Given the description of an element on the screen output the (x, y) to click on. 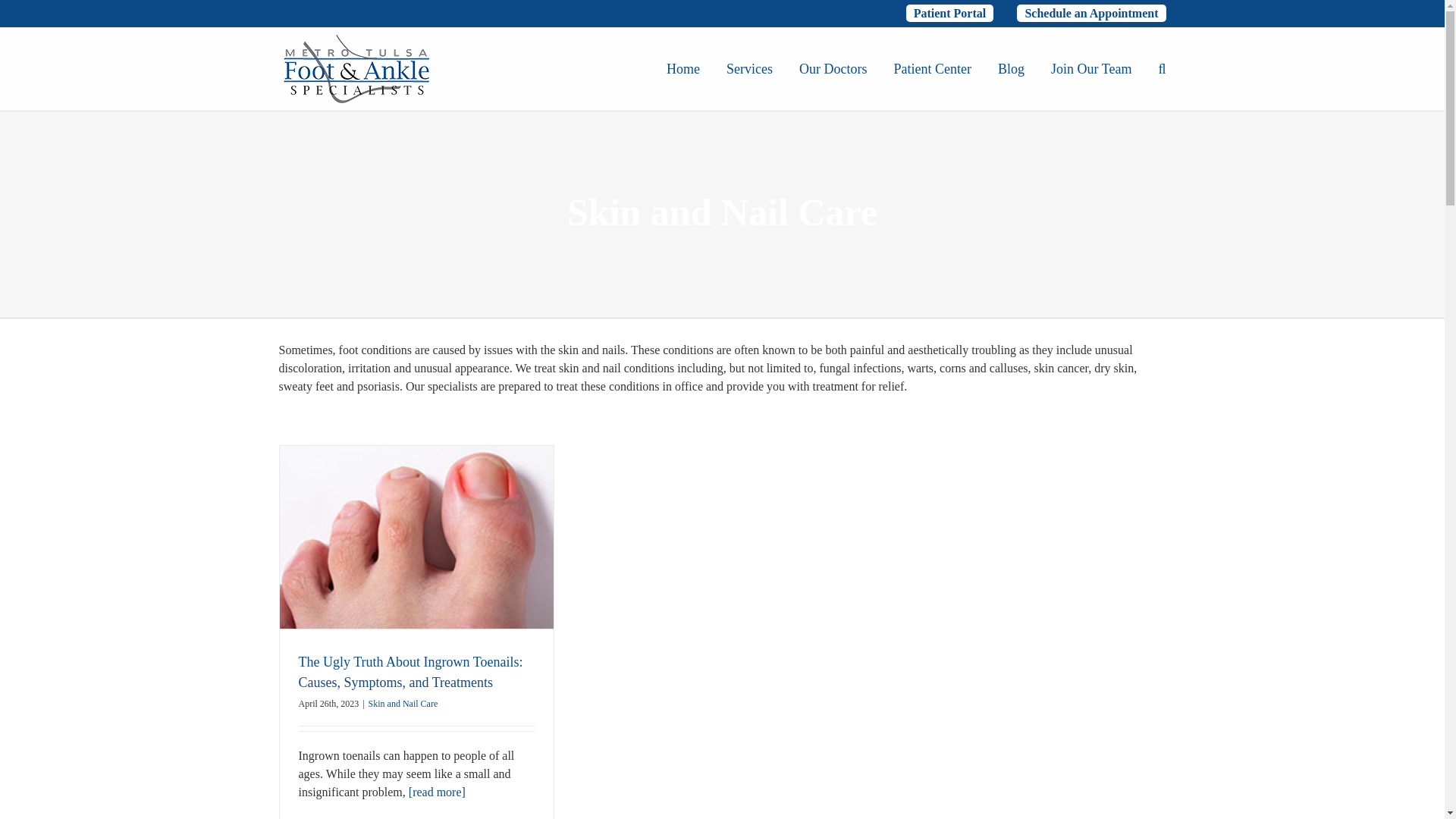
Our Doctors (832, 69)
Patient Center (932, 69)
Patient Portal (949, 13)
Schedule an Appointment (1091, 13)
Skin and Nail Care (403, 703)
Search (1161, 69)
Blog (1011, 69)
Services (749, 69)
Schedule an appointment (1091, 13)
Patient Login (949, 13)
Join Our Team (1091, 69)
Home (683, 69)
